Given the description of an element on the screen output the (x, y) to click on. 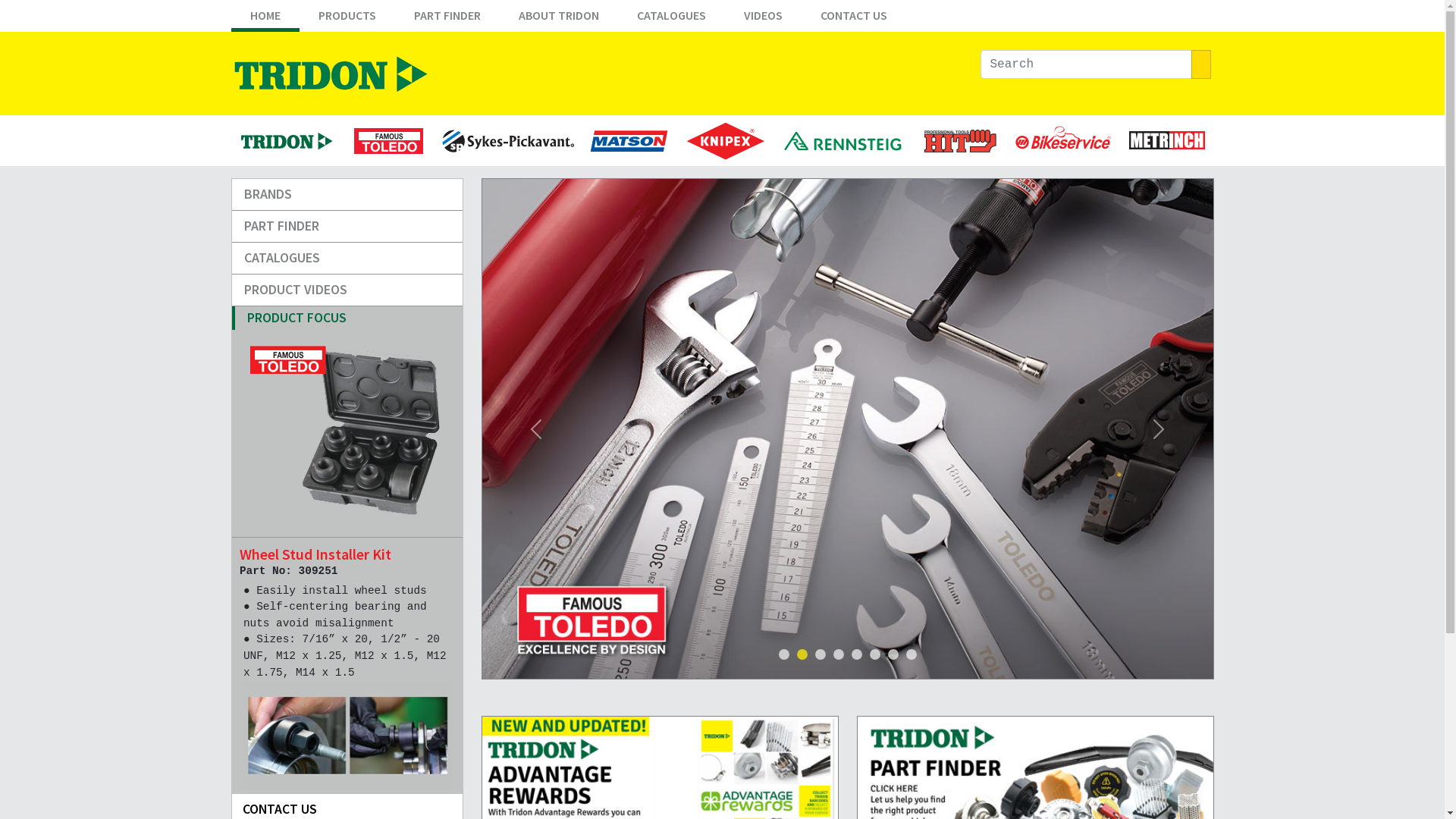
PRODUCTS Element type: text (346, 18)
CATALOGUES Element type: text (670, 18)
BRANDS Element type: text (347, 194)
PART FINDER Element type: text (347, 226)
VIDEOS Element type: text (762, 18)
Previous Element type: text (535, 428)
CATALOGUES Element type: text (347, 258)
Next Element type: text (1159, 428)
View Toledo products Element type: hover (847, 429)
HOME Element type: text (264, 18)
PART FINDER Element type: text (446, 18)
ABOUT TRIDON Element type: text (557, 18)
CONTACT US Element type: text (852, 18)
PRODUCT VIDEOS Element type: text (347, 290)
